Given the description of an element on the screen output the (x, y) to click on. 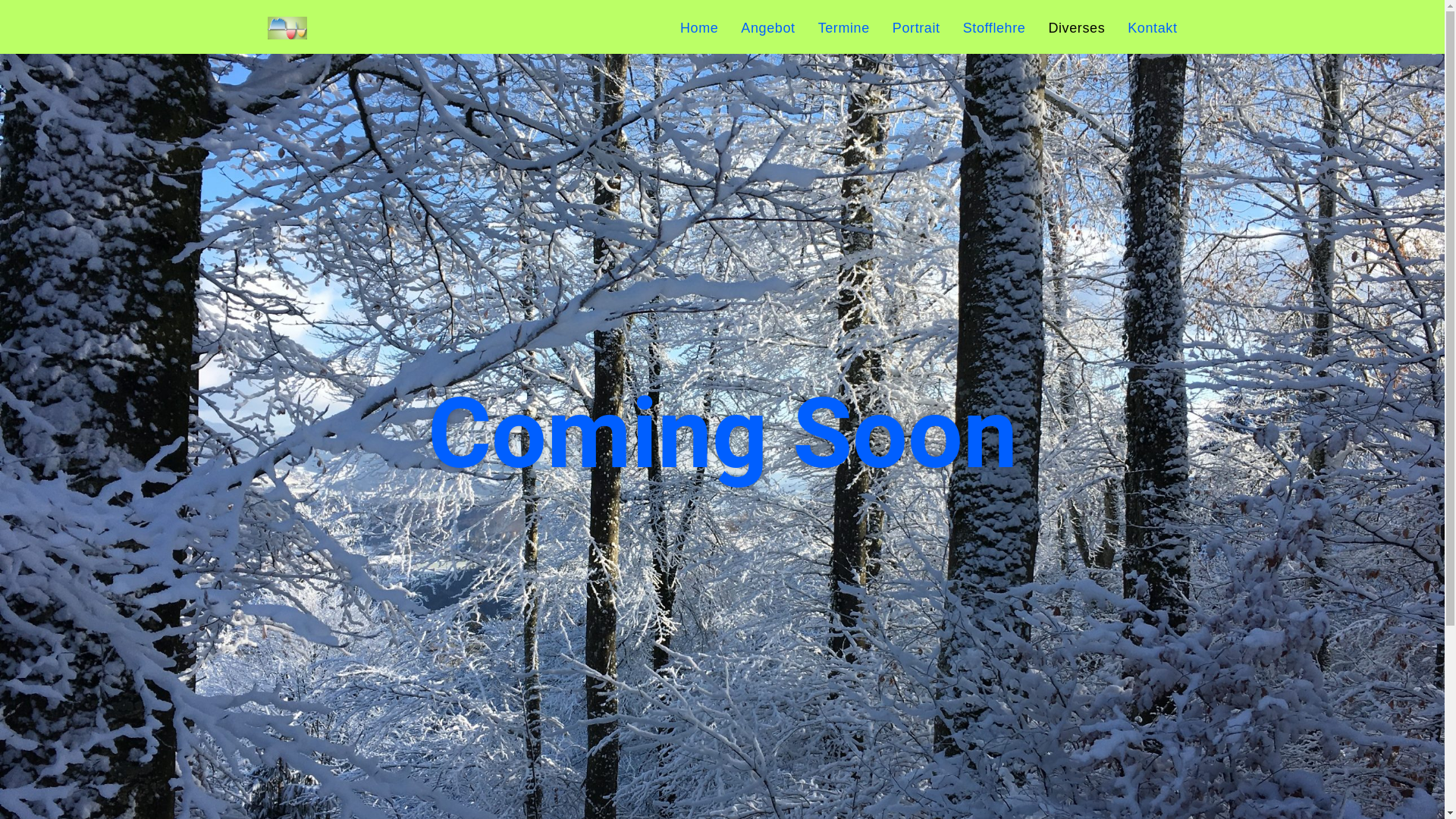
Kontakt Element type: text (1152, 28)
Home Element type: text (698, 28)
Diverses Element type: text (1076, 28)
Angebot Element type: text (767, 28)
Portrait Element type: text (916, 28)
Stofflehre Element type: text (994, 28)
Termine Element type: text (843, 28)
